Given the description of an element on the screen output the (x, y) to click on. 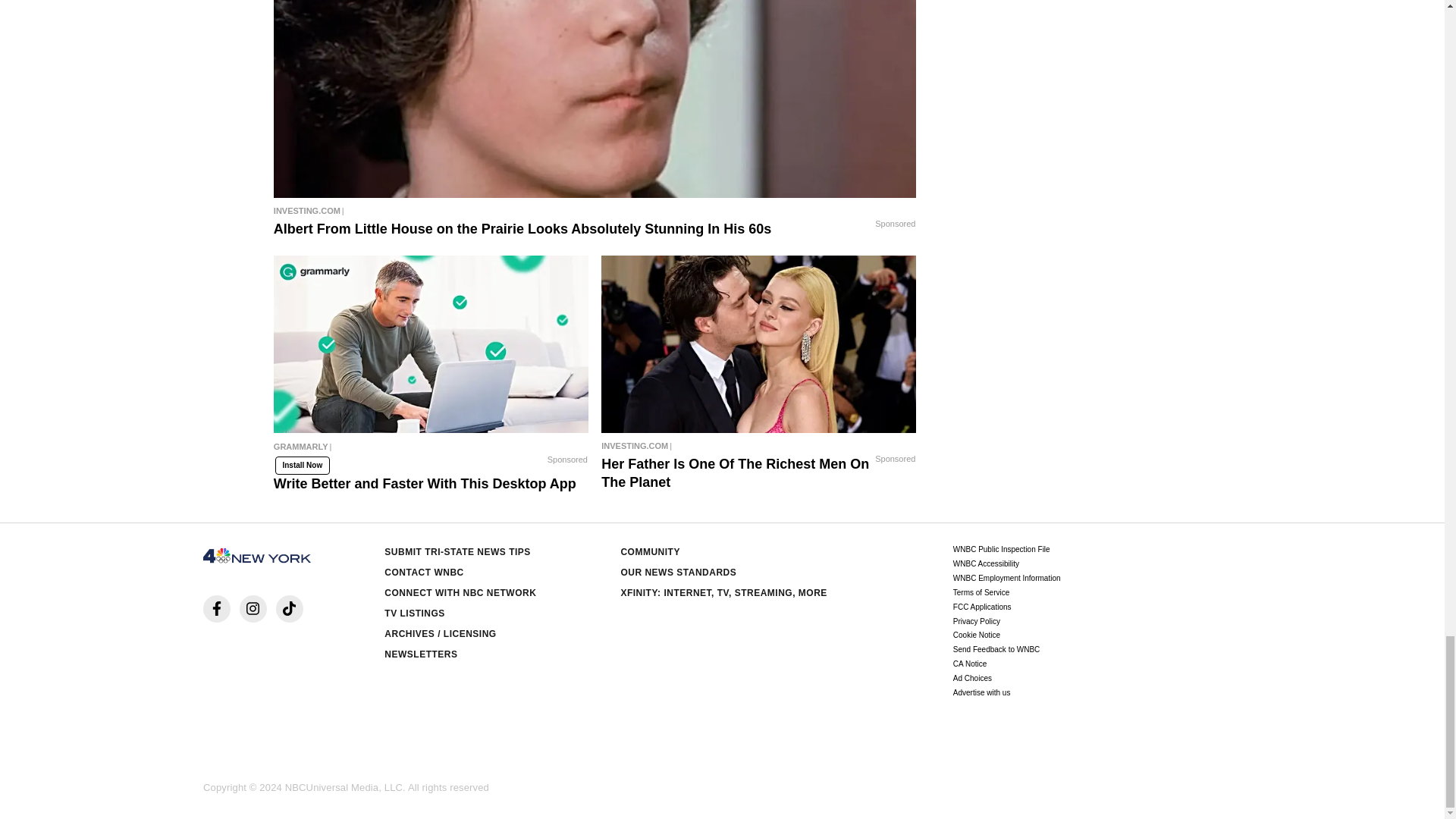
Her Father Is One Of The Richest Men On The Planet (758, 445)
Her Father Is One Of The Richest Men On The Planet (758, 344)
Write Better and Faster With This Desktop App (430, 344)
Write Better and Faster With This Desktop App (430, 450)
